Given the description of an element on the screen output the (x, y) to click on. 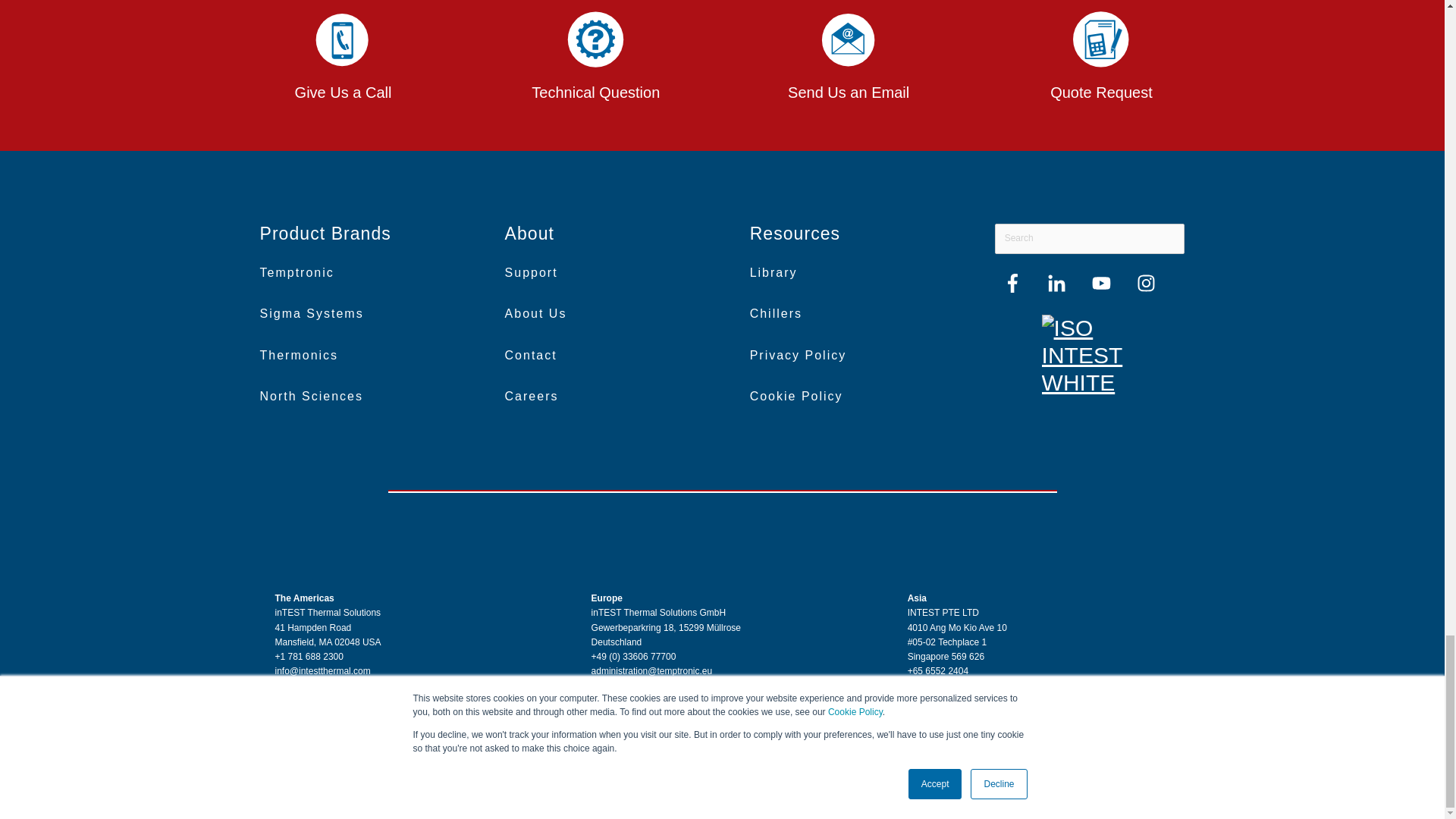
Follow us on LinkedIn (1055, 282)
Follow us on Facebook (1012, 282)
EMAIL WHITE INTEST (848, 41)
Follow us on Facebook (1146, 282)
PHONE WHITE INTEST (342, 41)
Follow us on Facebook (1101, 282)
TECH QUESTION WHITE INTEST (595, 41)
